Given the description of an element on the screen output the (x, y) to click on. 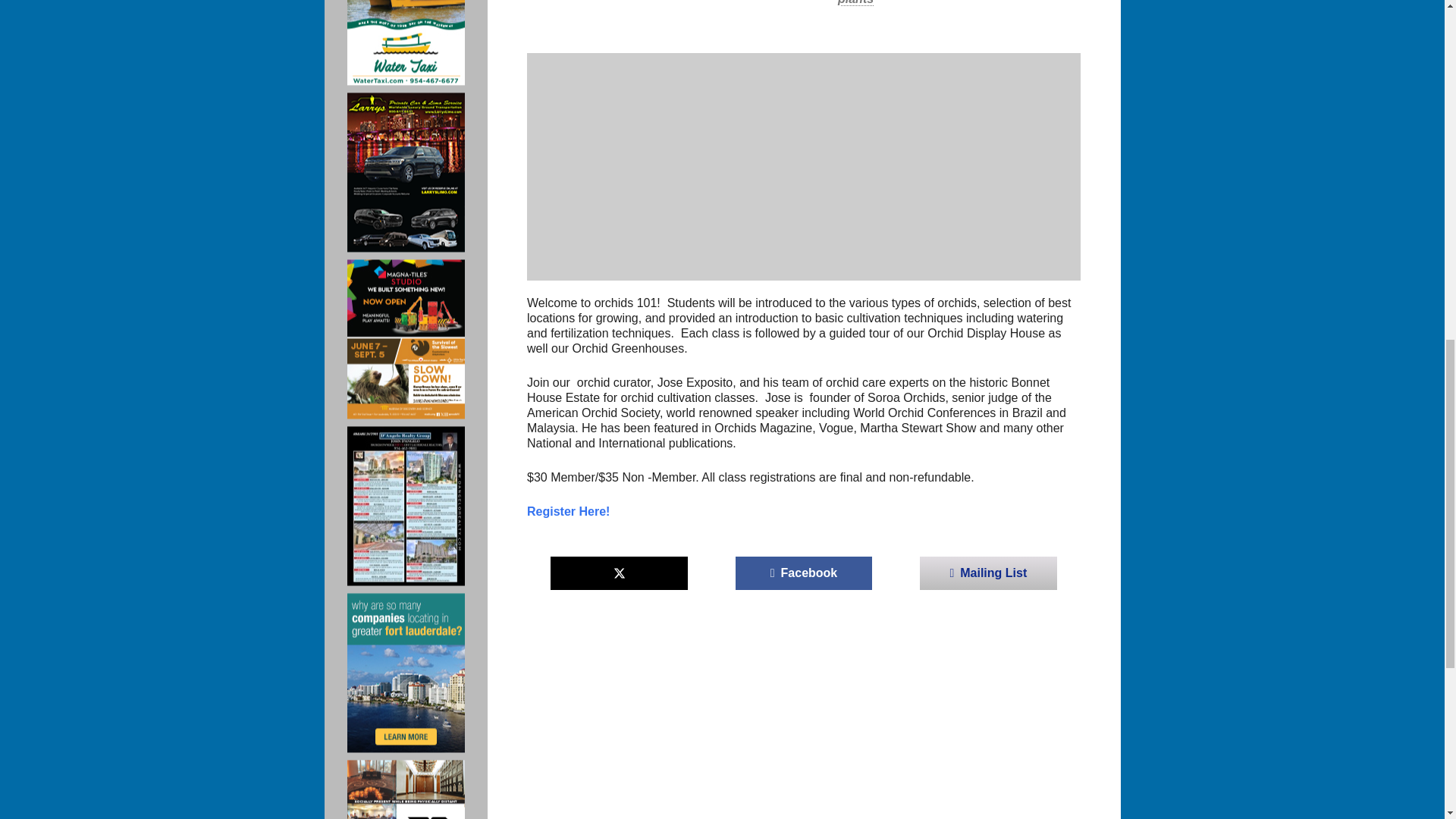
Facebook (803, 572)
Mailing List (988, 572)
plants (855, 2)
Register Here! (568, 511)
